Given the description of an element on the screen output the (x, y) to click on. 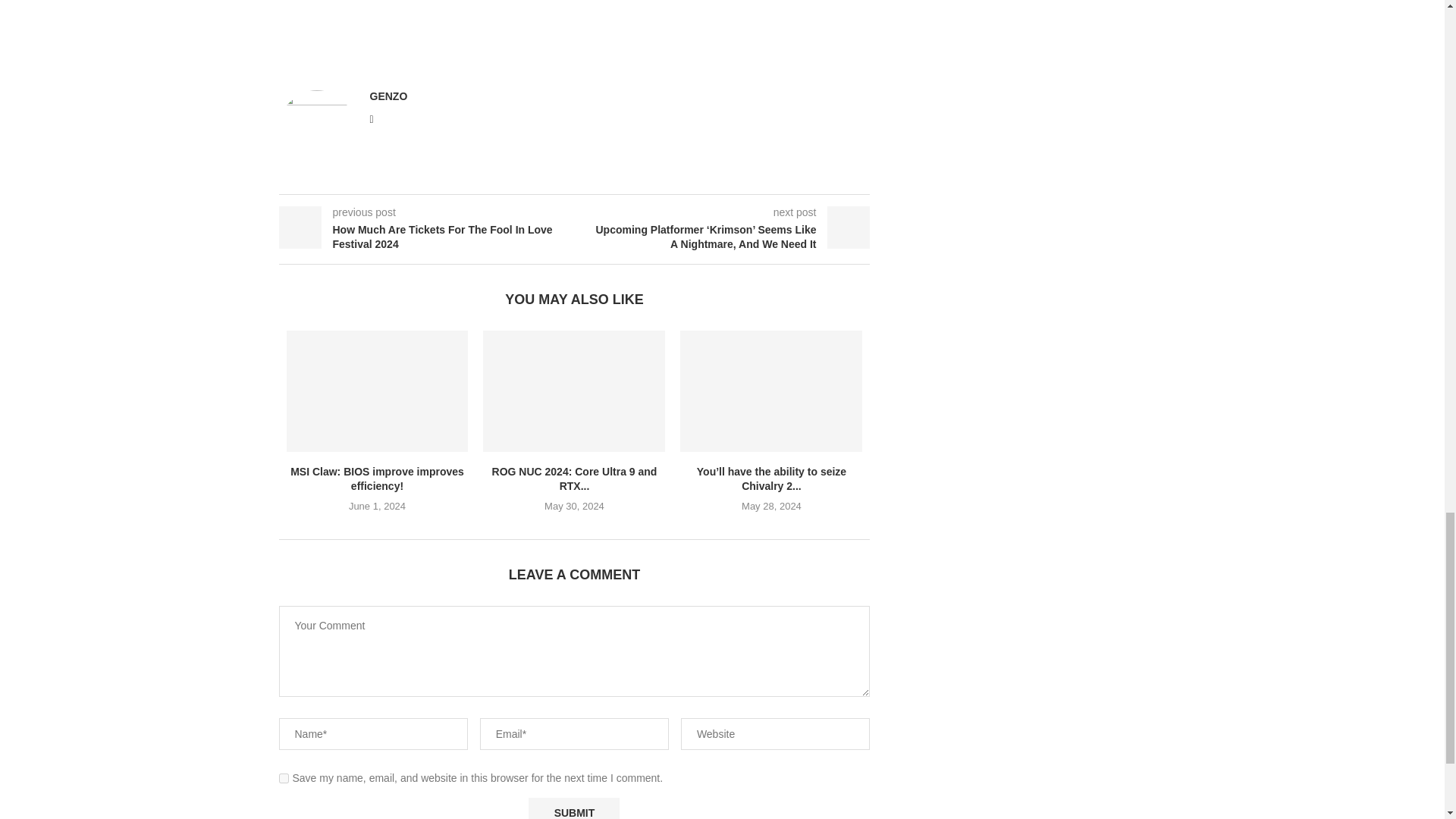
yes (283, 777)
ROG NUC 2024: Core Ultra 9 and RTX 4070 in 2.5l of quantity (574, 391)
MSI Claw: BIOS improve improves efficiency! (377, 391)
Author Genzo (388, 96)
Submit (574, 808)
